Given the description of an element on the screen output the (x, y) to click on. 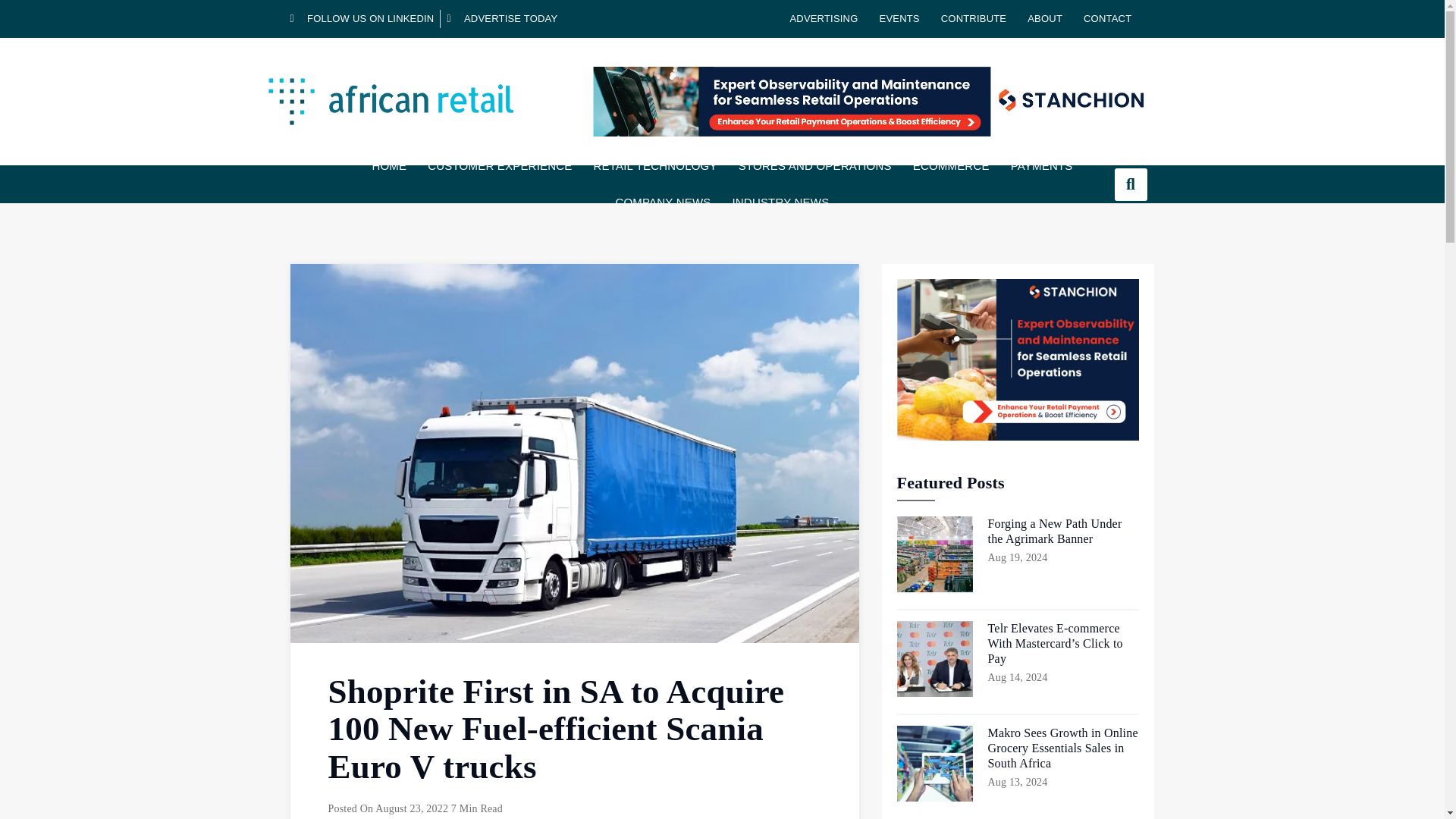
CONTRIBUTE (973, 18)
ADVERTISE TODAY (501, 18)
EVENTS (899, 18)
CONTACT (1107, 18)
FOLLOW US ON LINKEDIN (361, 18)
ADVERTISING (822, 18)
ABOUT (1044, 18)
